Given the description of an element on the screen output the (x, y) to click on. 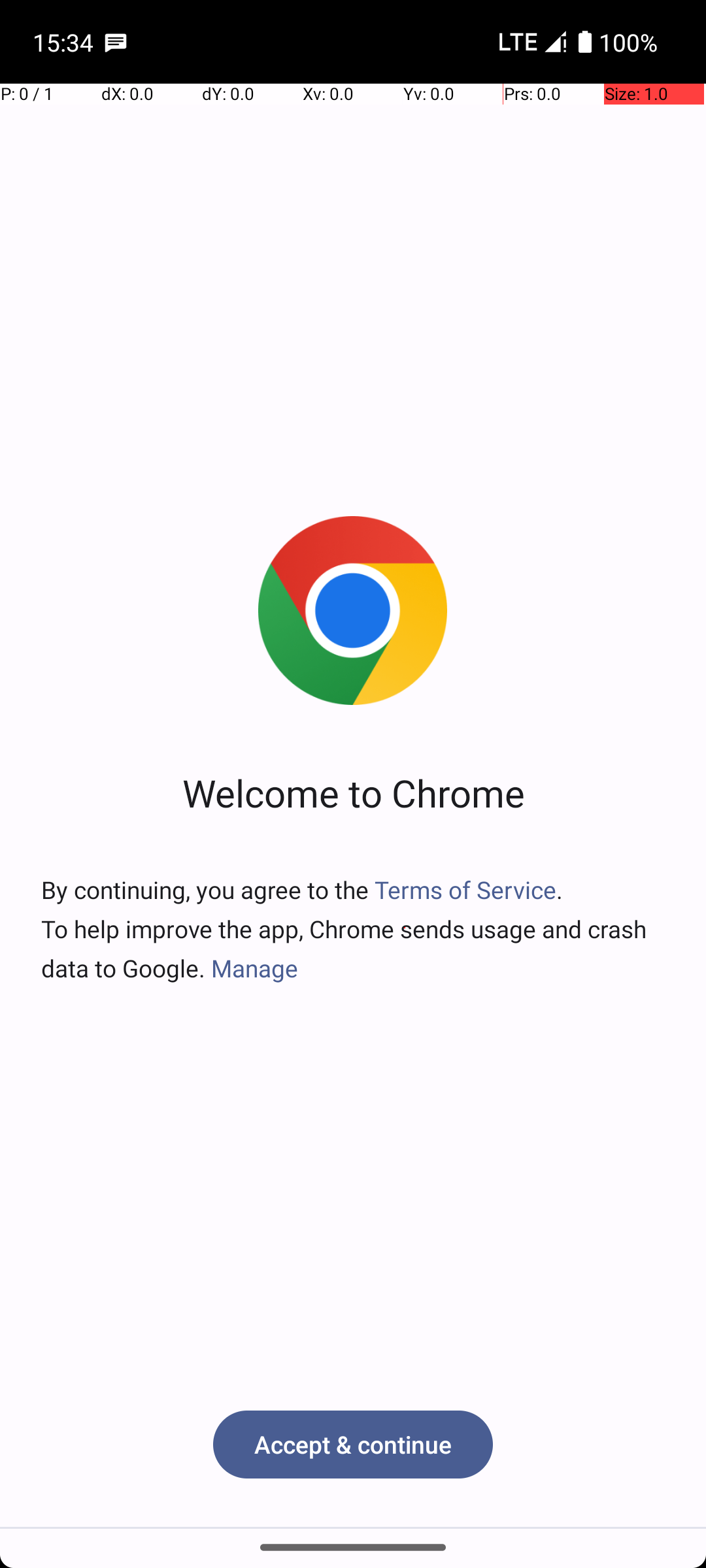
By continuing, you agree to the Terms of Service.
To help improve the app, Chrome sends usage and crash data to Google. Manage Element type: android.widget.TextView (352, 928)
